Given the description of an element on the screen output the (x, y) to click on. 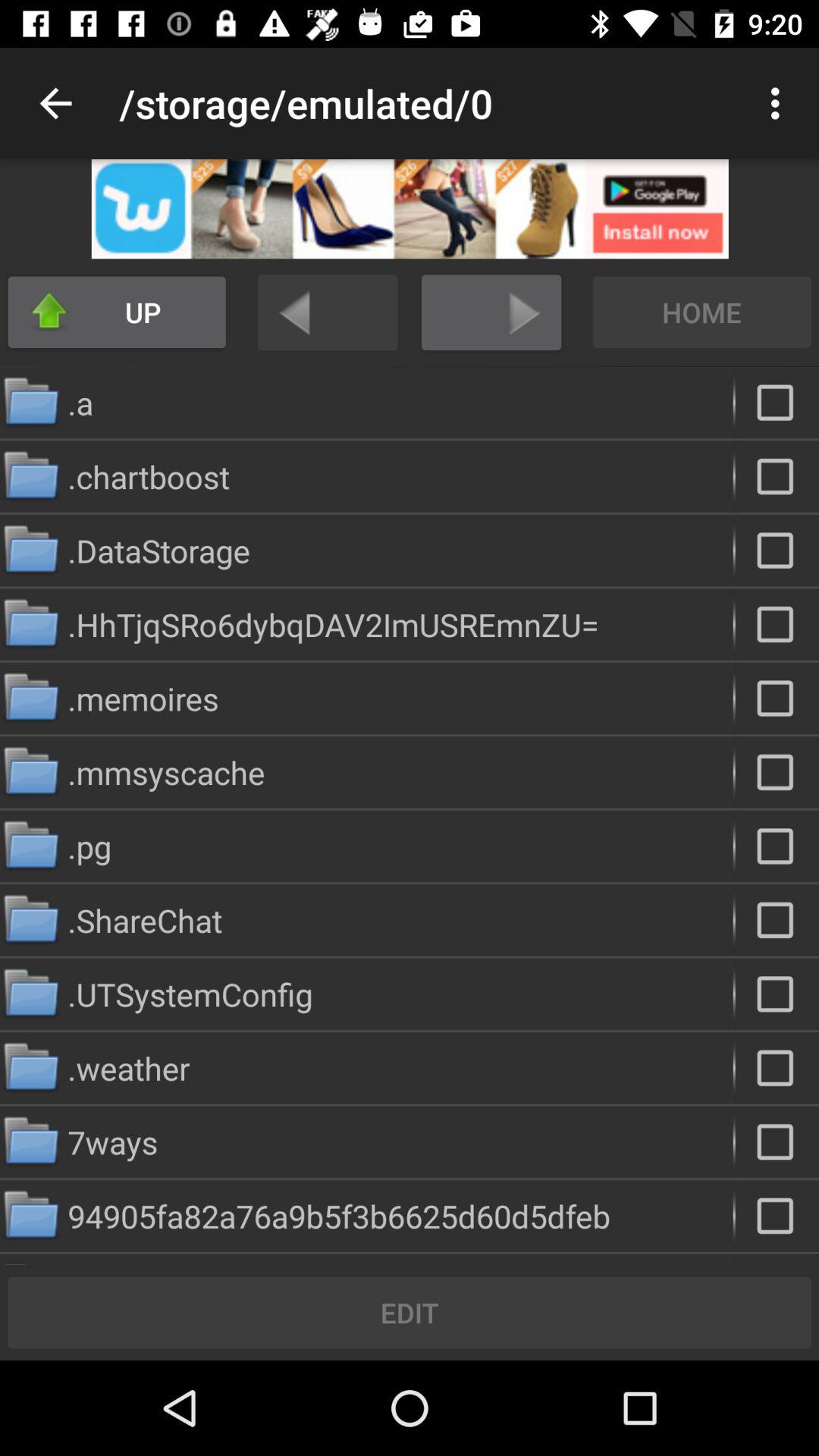
select folder (777, 1215)
